Given the description of an element on the screen output the (x, y) to click on. 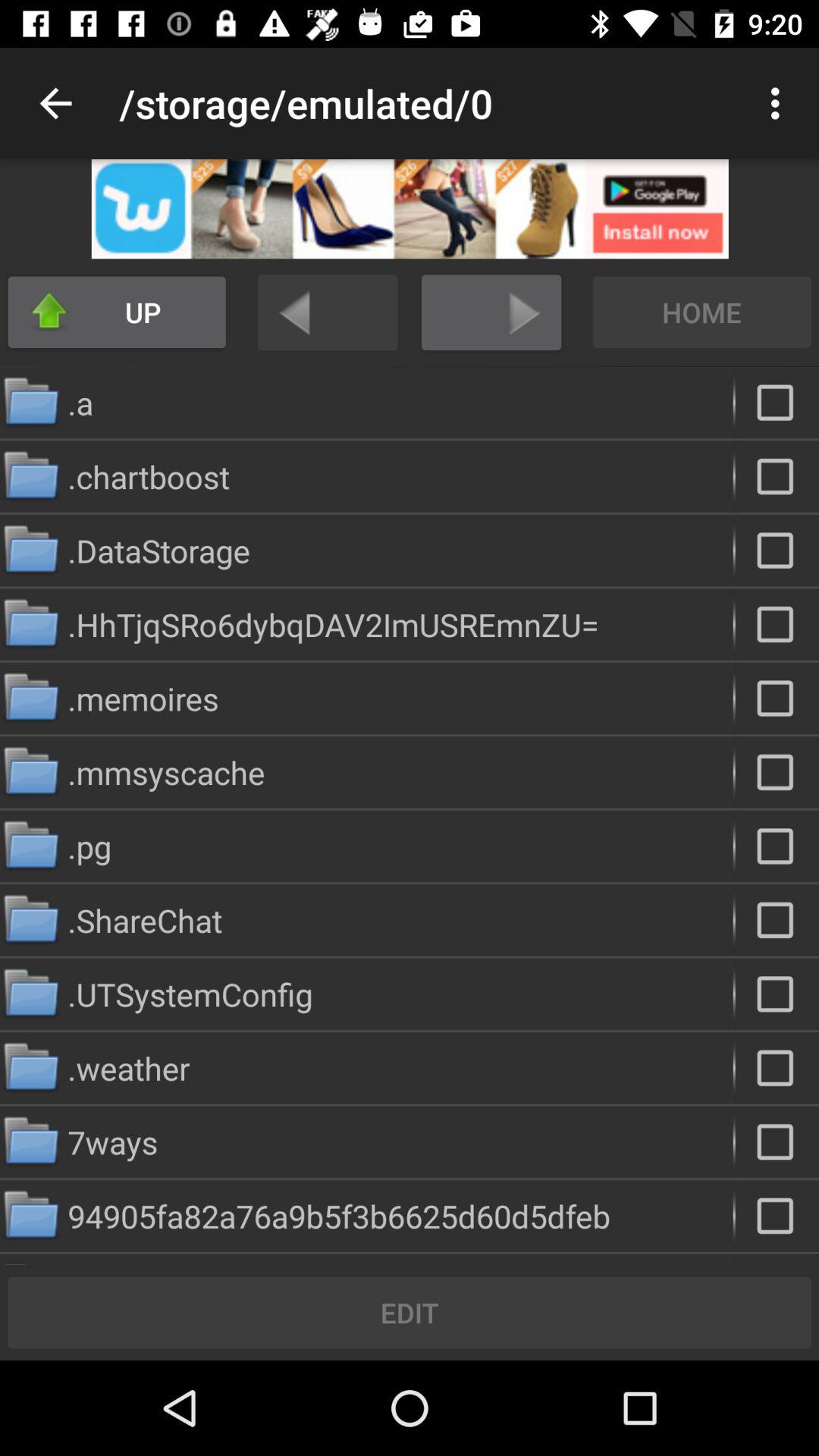
select folder (777, 1215)
